Given the description of an element on the screen output the (x, y) to click on. 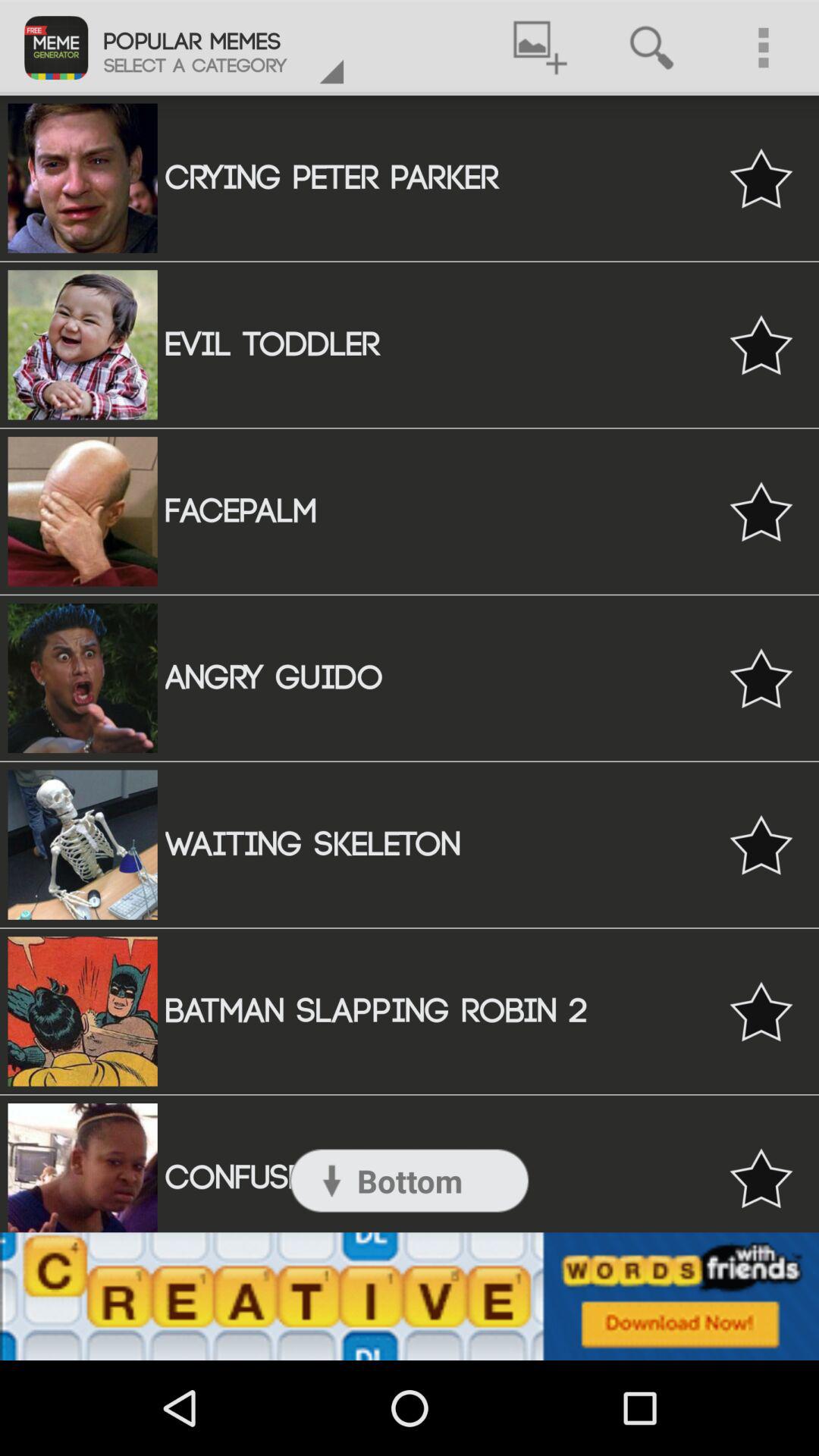
favorite the selection (761, 678)
